Given the description of an element on the screen output the (x, y) to click on. 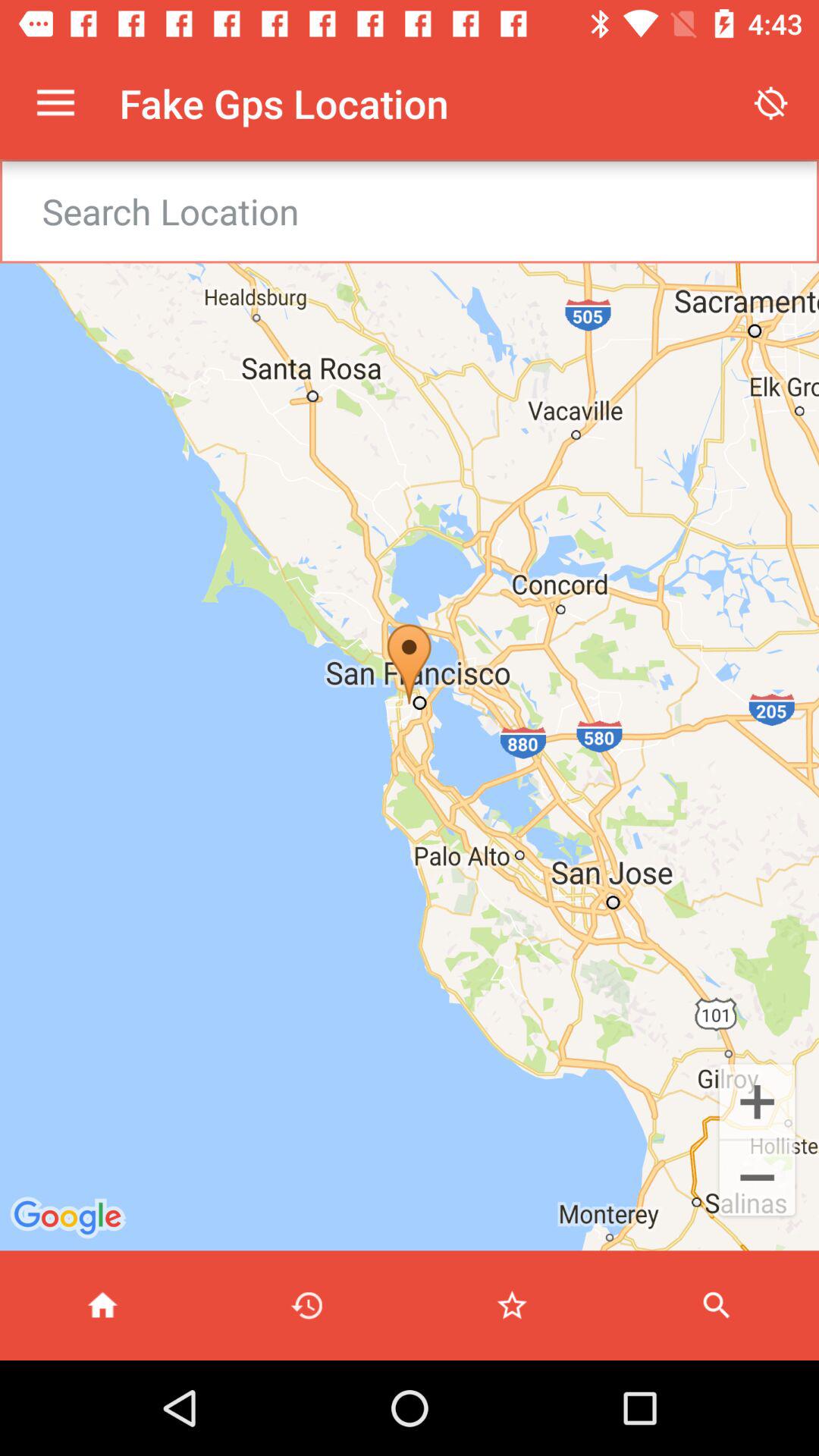
search (716, 1305)
